Given the description of an element on the screen output the (x, y) to click on. 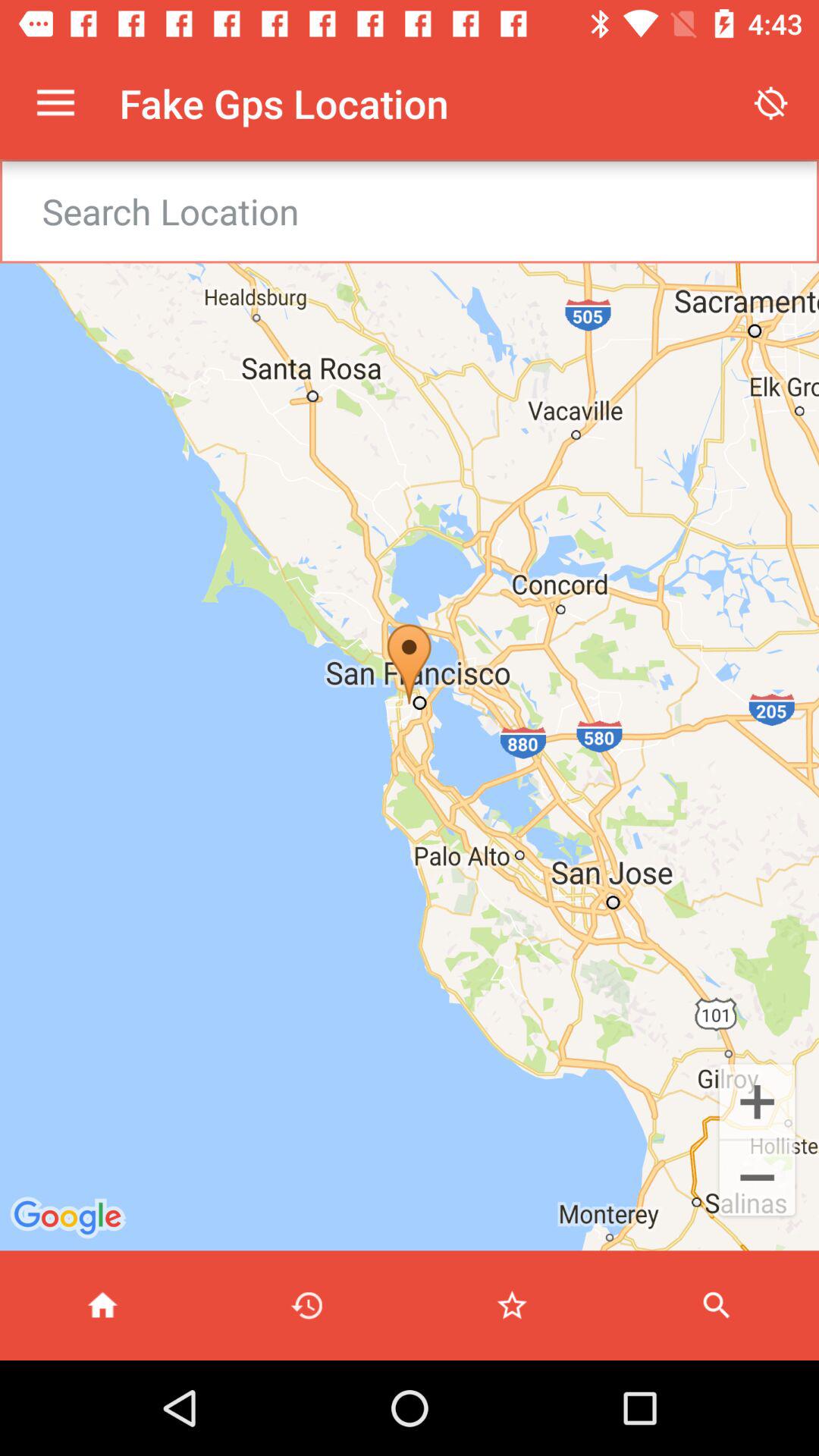
search (716, 1305)
